Given the description of an element on the screen output the (x, y) to click on. 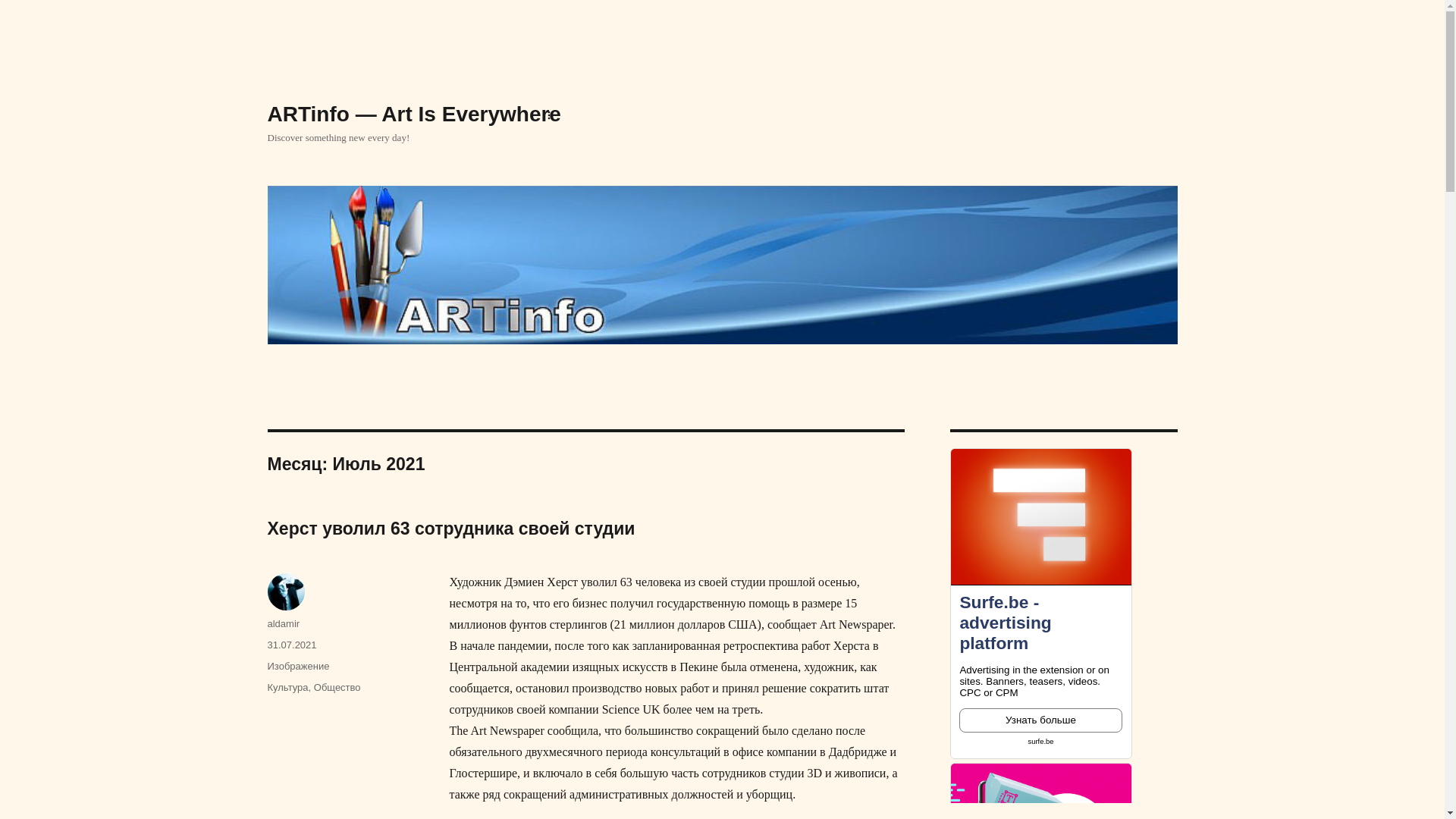
aldamir Element type: text (282, 623)
31.07.2021 Element type: text (291, 644)
